Given the description of an element on the screen output the (x, y) to click on. 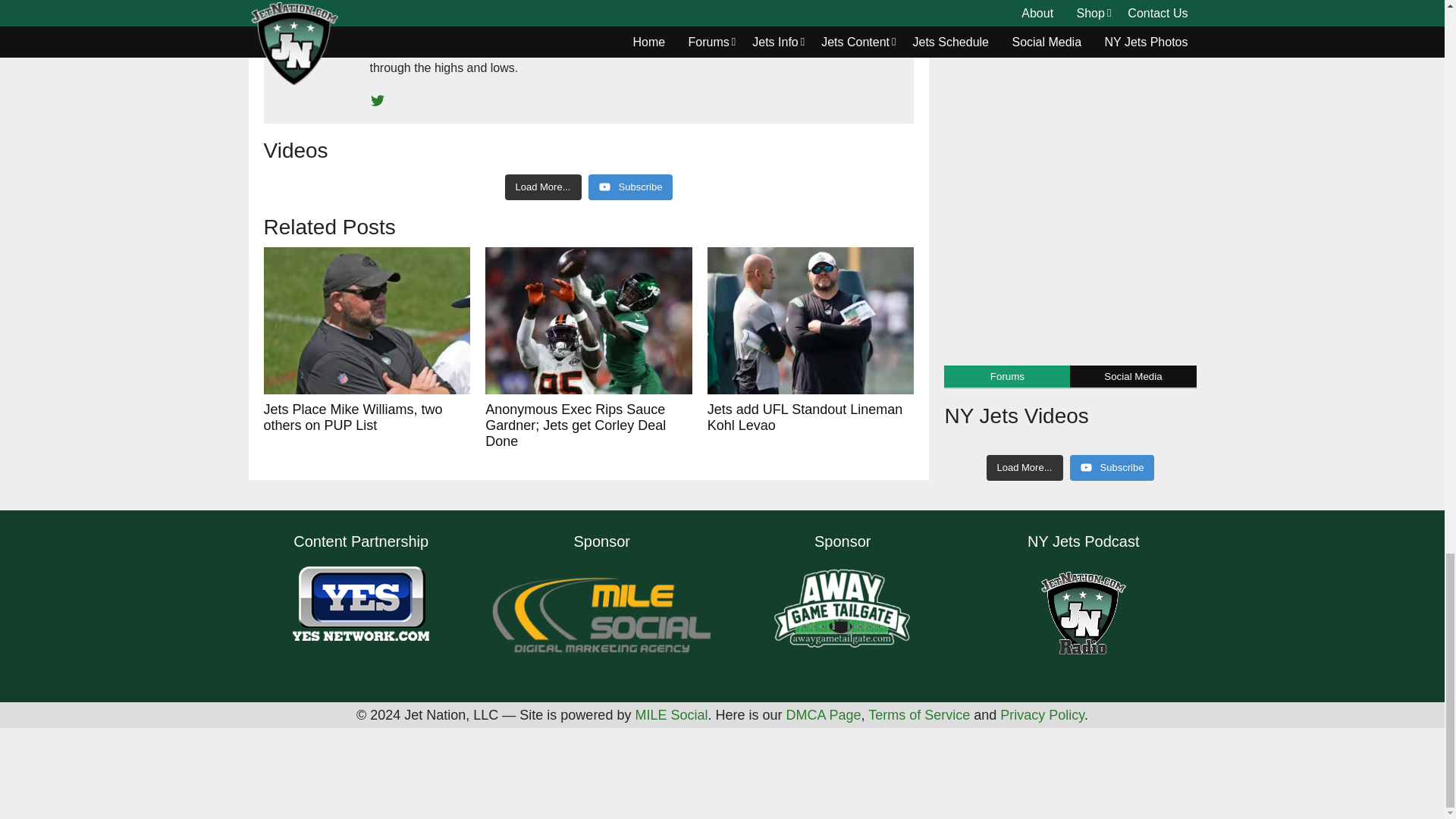
Anonymous Exec Rips Sauce Gardner; Jets get Corley Deal Done (588, 320)
Jets add UFL Standout Lineman Kohl Levao (810, 320)
Jets Place Mike Williams, two others on PUP List (366, 320)
